Given the description of an element on the screen output the (x, y) to click on. 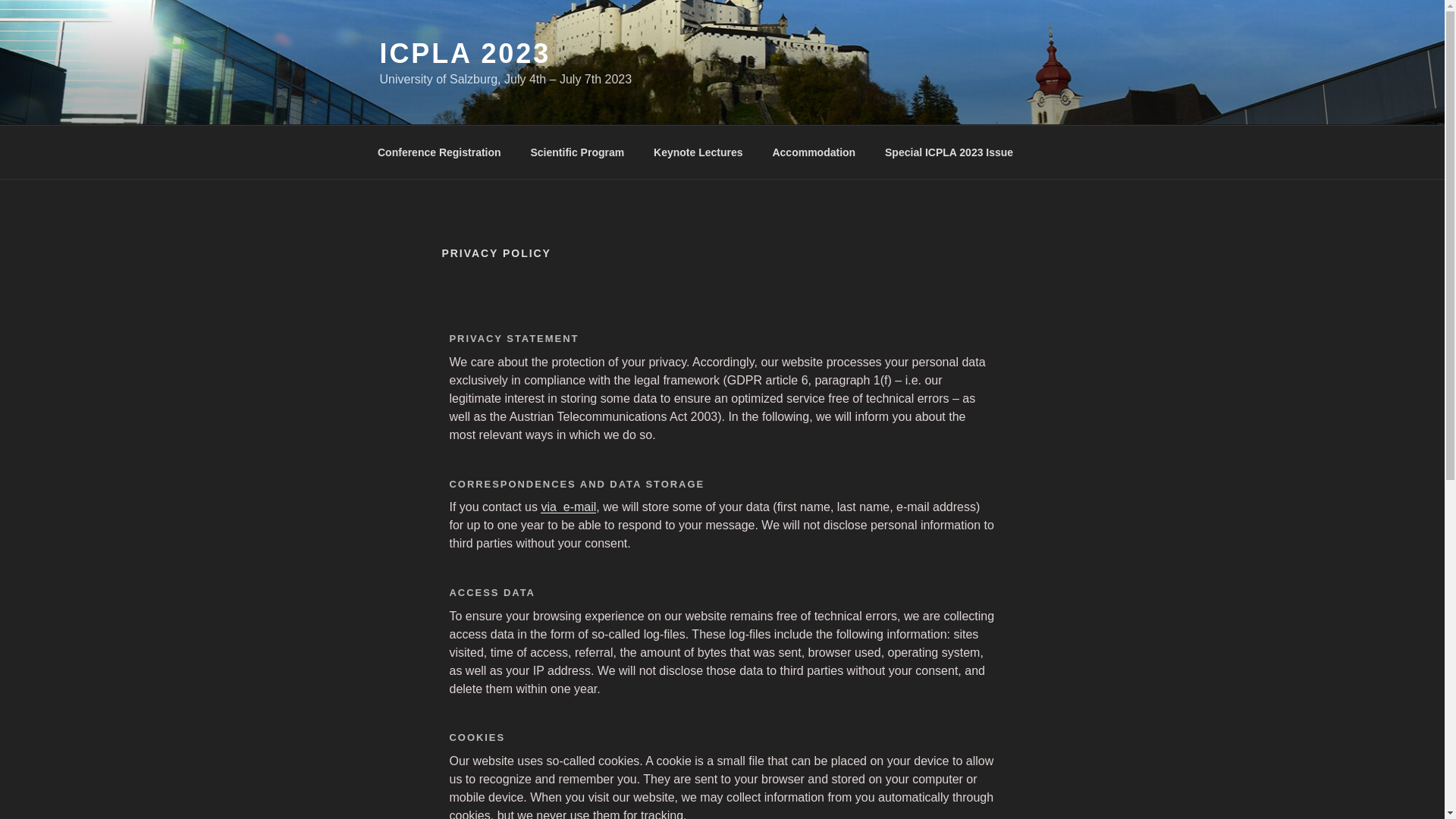
Scientific Program (576, 151)
via  e-mail (567, 506)
Conference Registration (438, 151)
ICPLA 2023 (464, 52)
Accommodation (813, 151)
Special ICPLA 2023 Issue (949, 151)
Keynote Lectures (697, 151)
